Given the description of an element on the screen output the (x, y) to click on. 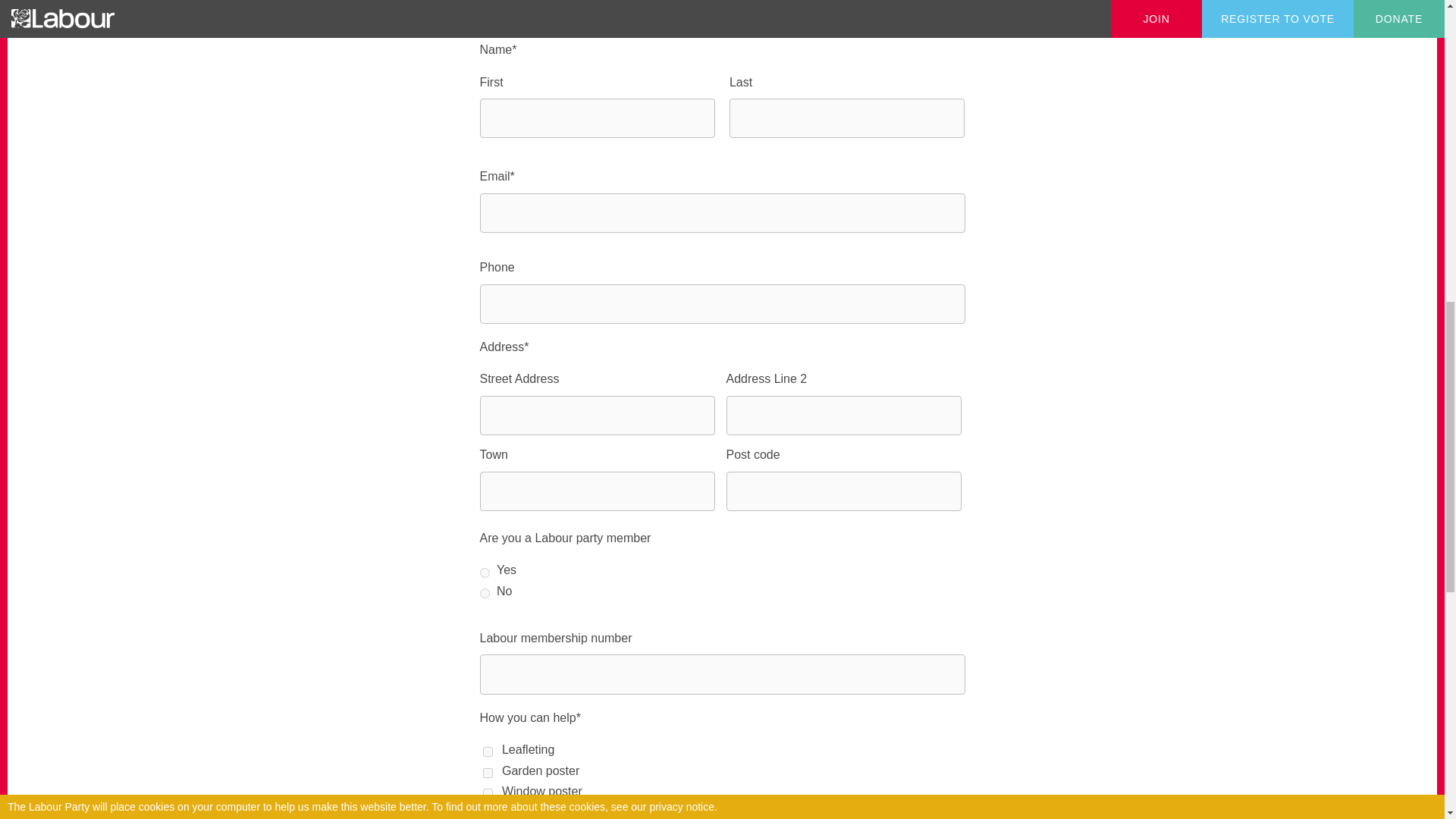
Yes (484, 572)
Window poster (486, 793)
Canvassing (486, 814)
No (484, 593)
Leafleting (486, 751)
Garden poster (486, 773)
